Given the description of an element on the screen output the (x, y) to click on. 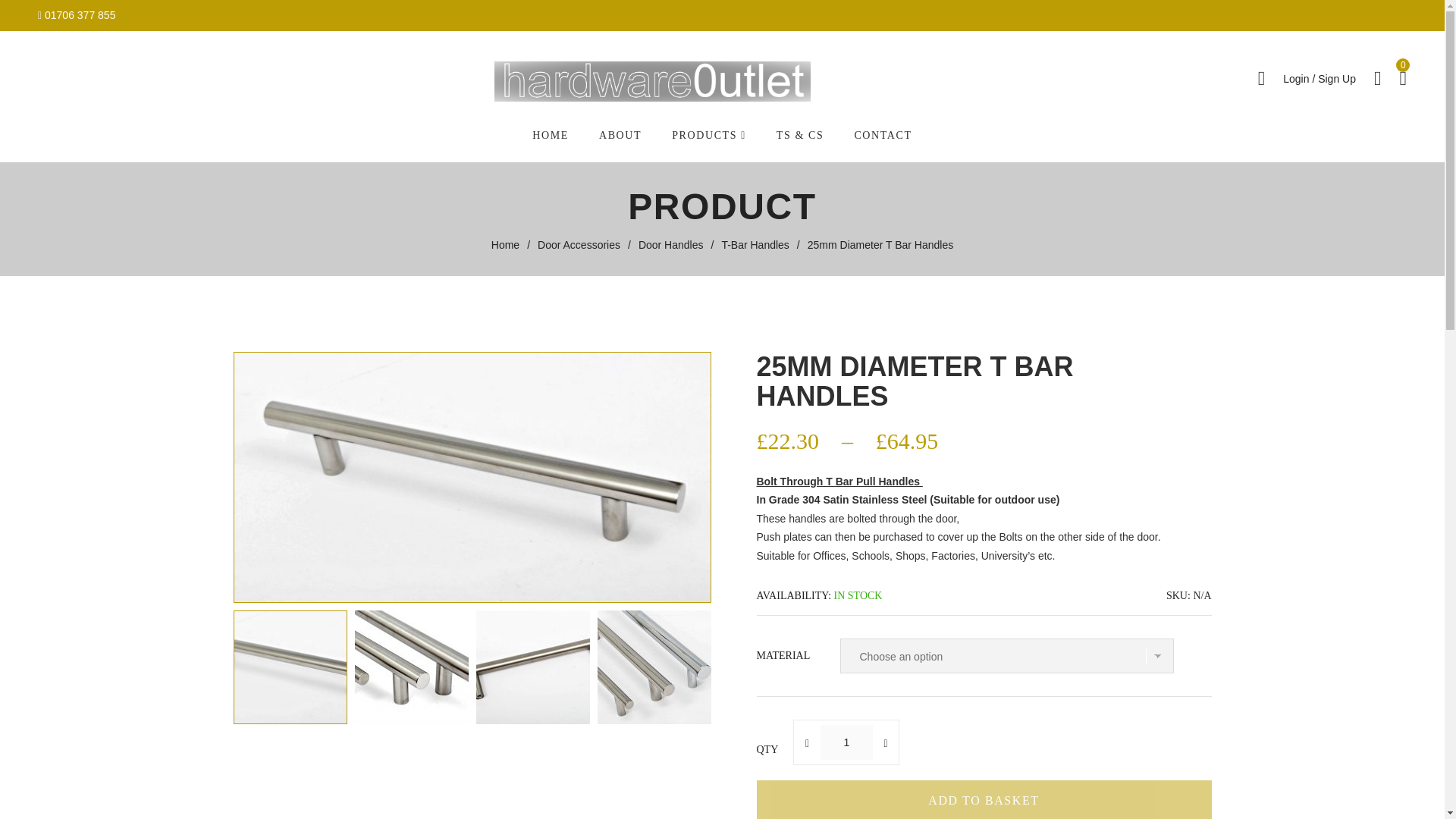
PRODUCTS (708, 135)
Qty (846, 742)
1 (846, 742)
711Tbar mixed size sss white background (410, 666)
7483t bar single satin (531, 666)
8053T bar pol mixed white back (653, 666)
